Given the description of an element on the screen output the (x, y) to click on. 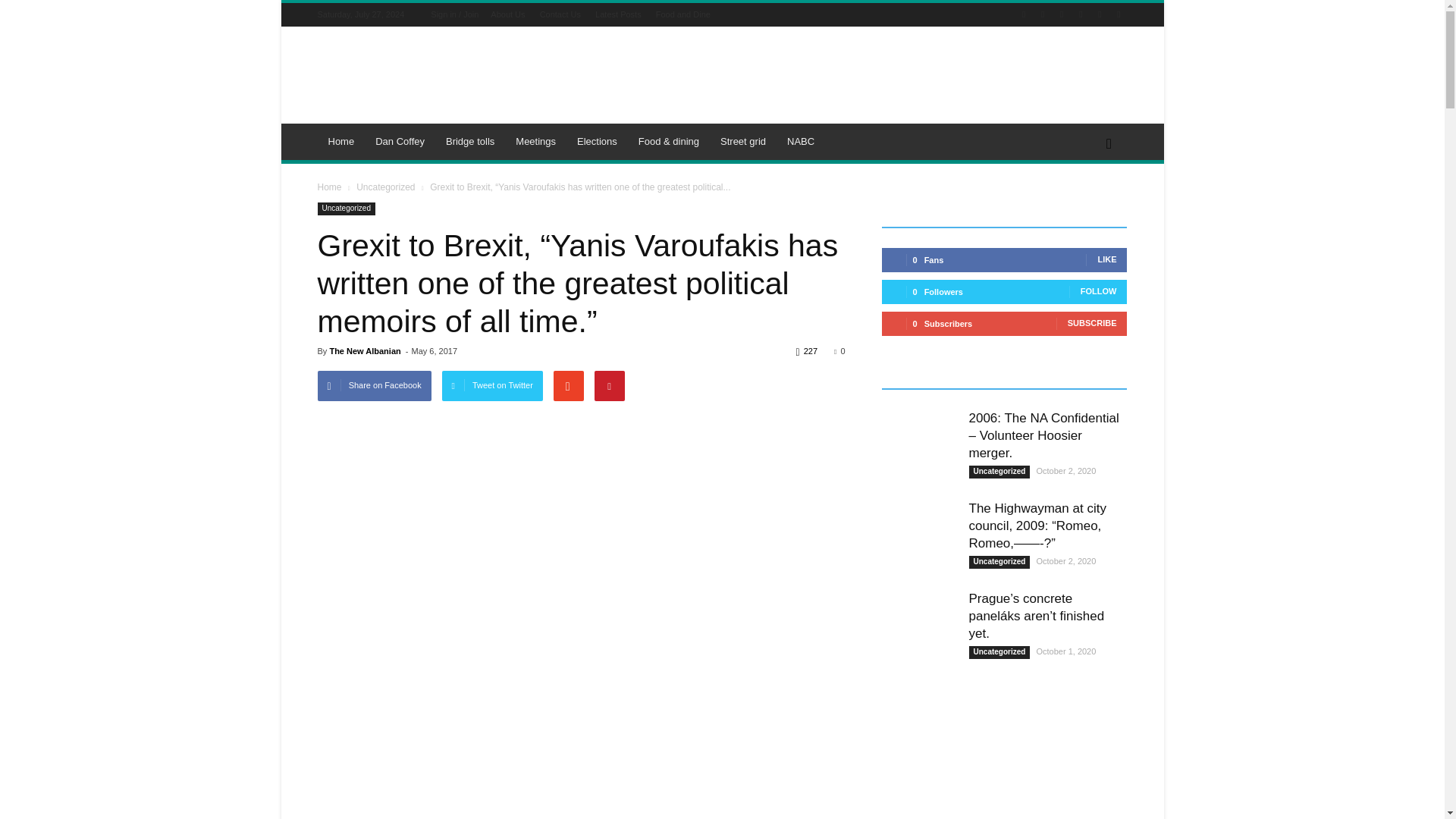
Twitter (1080, 13)
VKontakte (1117, 13)
Dan Coffey (400, 141)
Vimeo (1099, 13)
Instagram (1061, 13)
View all posts in Uncategorized (385, 186)
Contact Us (560, 13)
Food and Dine (683, 13)
Behance (1023, 13)
Latest Posts (618, 13)
Home (341, 141)
Facebook (1042, 13)
About Us (507, 13)
